Given the description of an element on the screen output the (x, y) to click on. 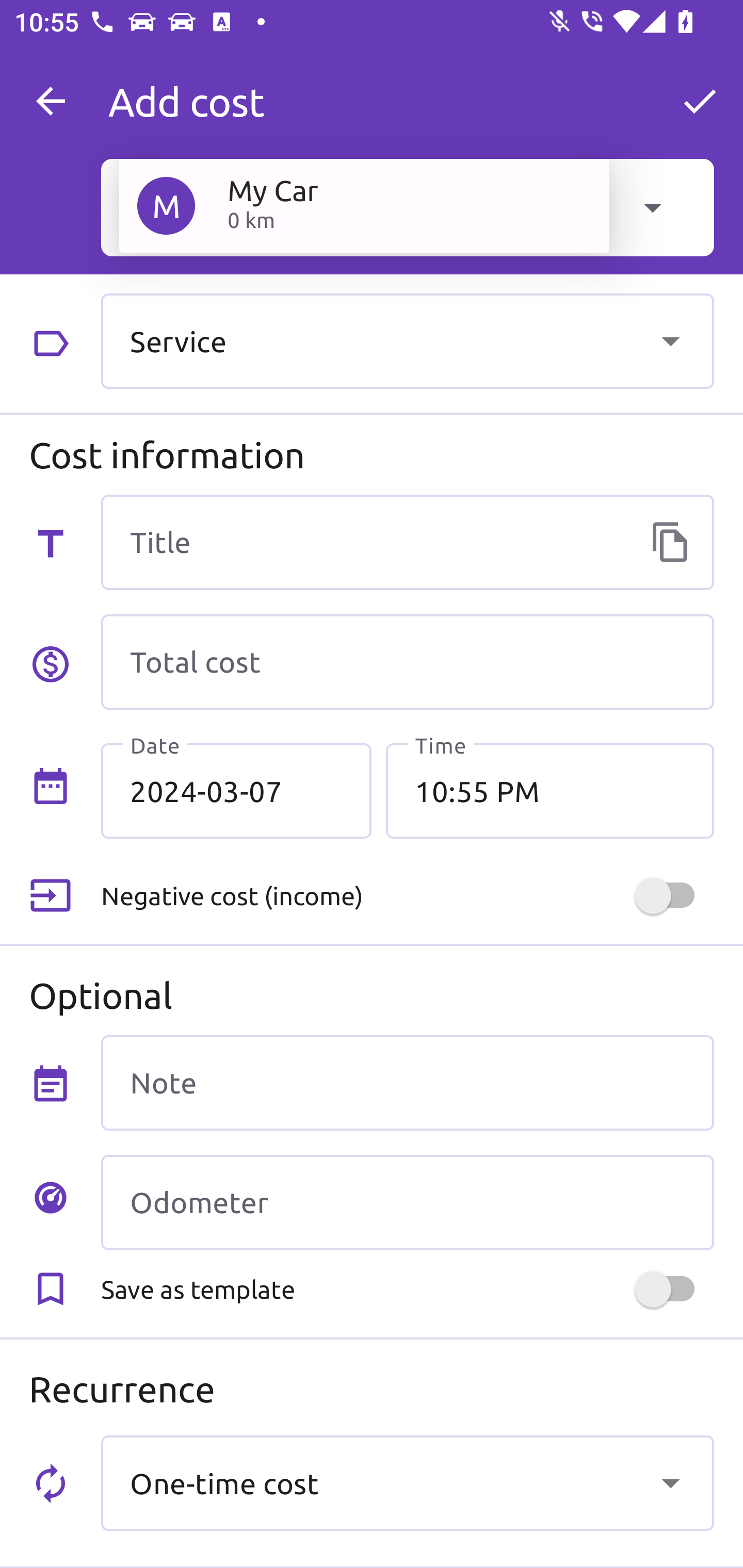
M My Car 0 km (363, 205)
